Given the description of an element on the screen output the (x, y) to click on. 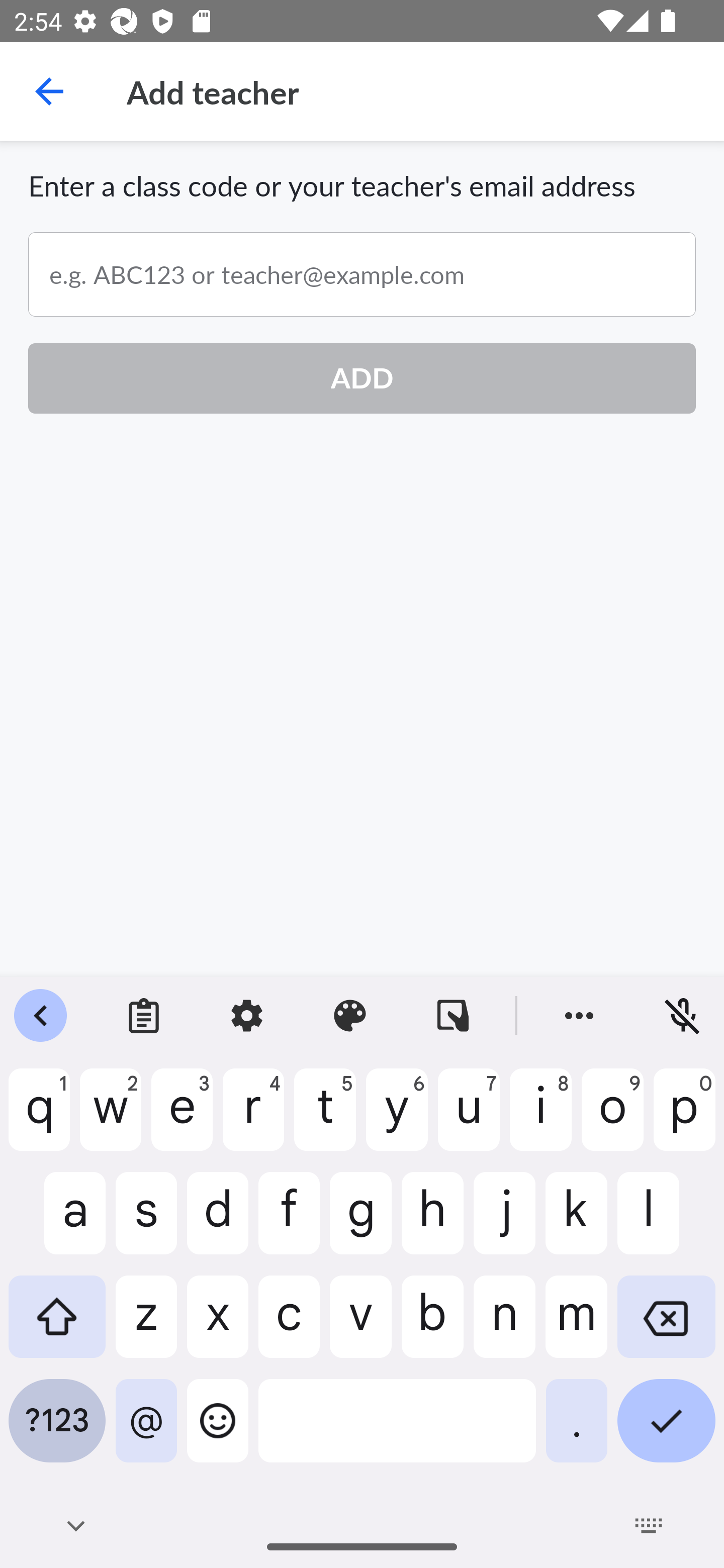
Navigate up (49, 91)
e.g. ABC123 or teacher@example.com (361, 274)
ADD (361, 378)
